Given the description of an element on the screen output the (x, y) to click on. 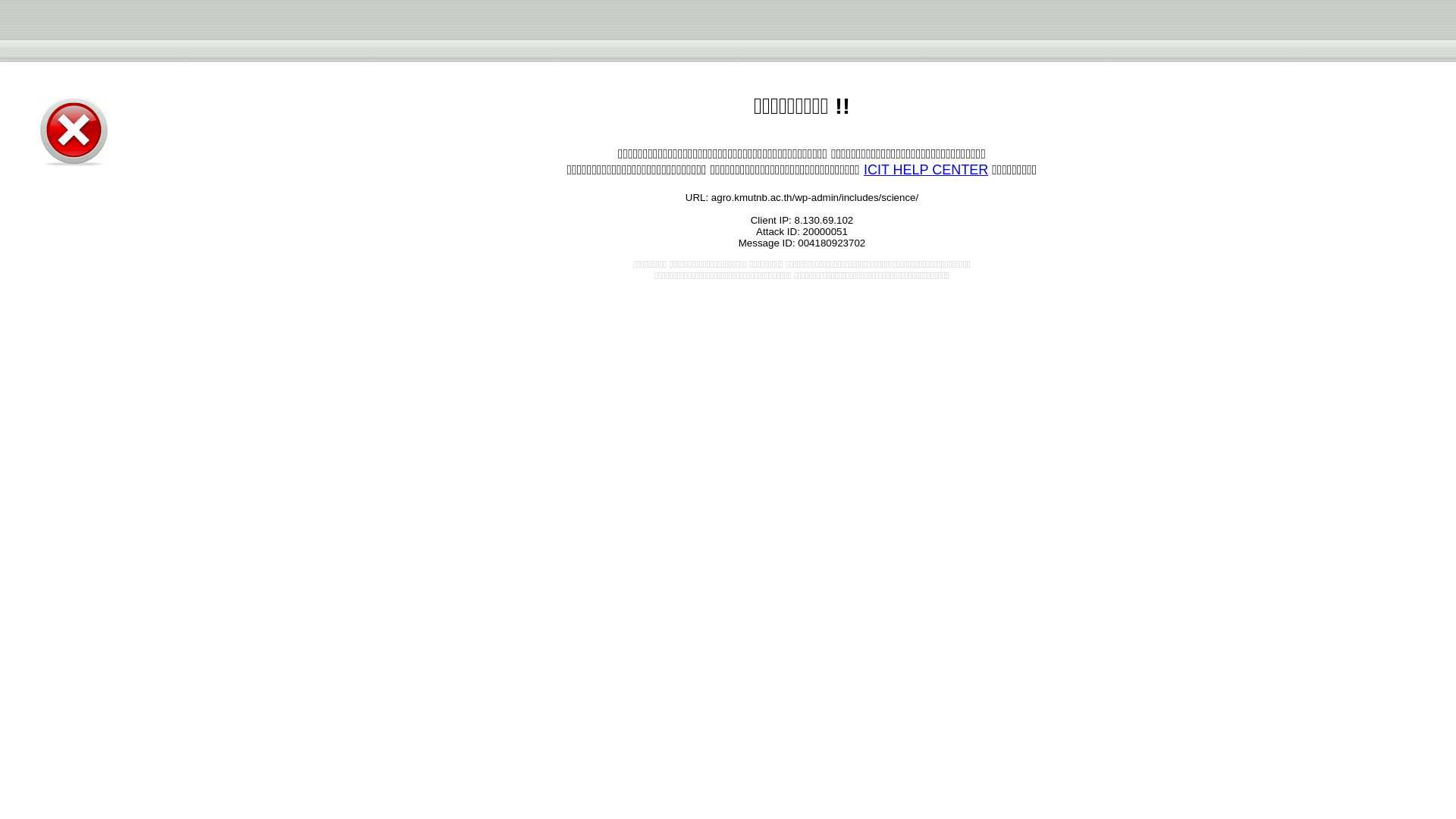
ICIT HELP CENTER (925, 169)
